Given the description of an element on the screen output the (x, y) to click on. 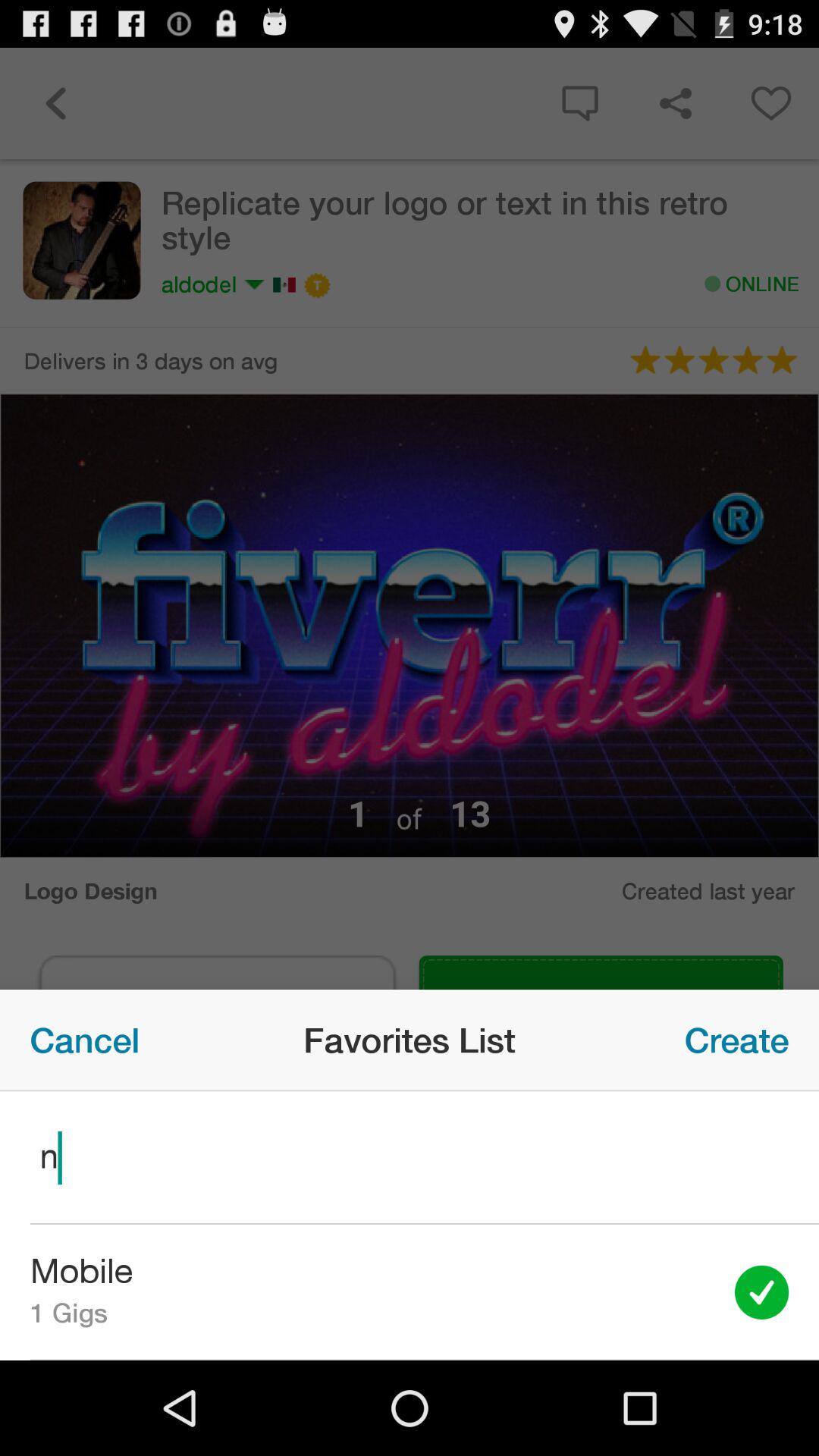
open icon to the left of the favorites list icon (84, 1039)
